Given the description of an element on the screen output the (x, y) to click on. 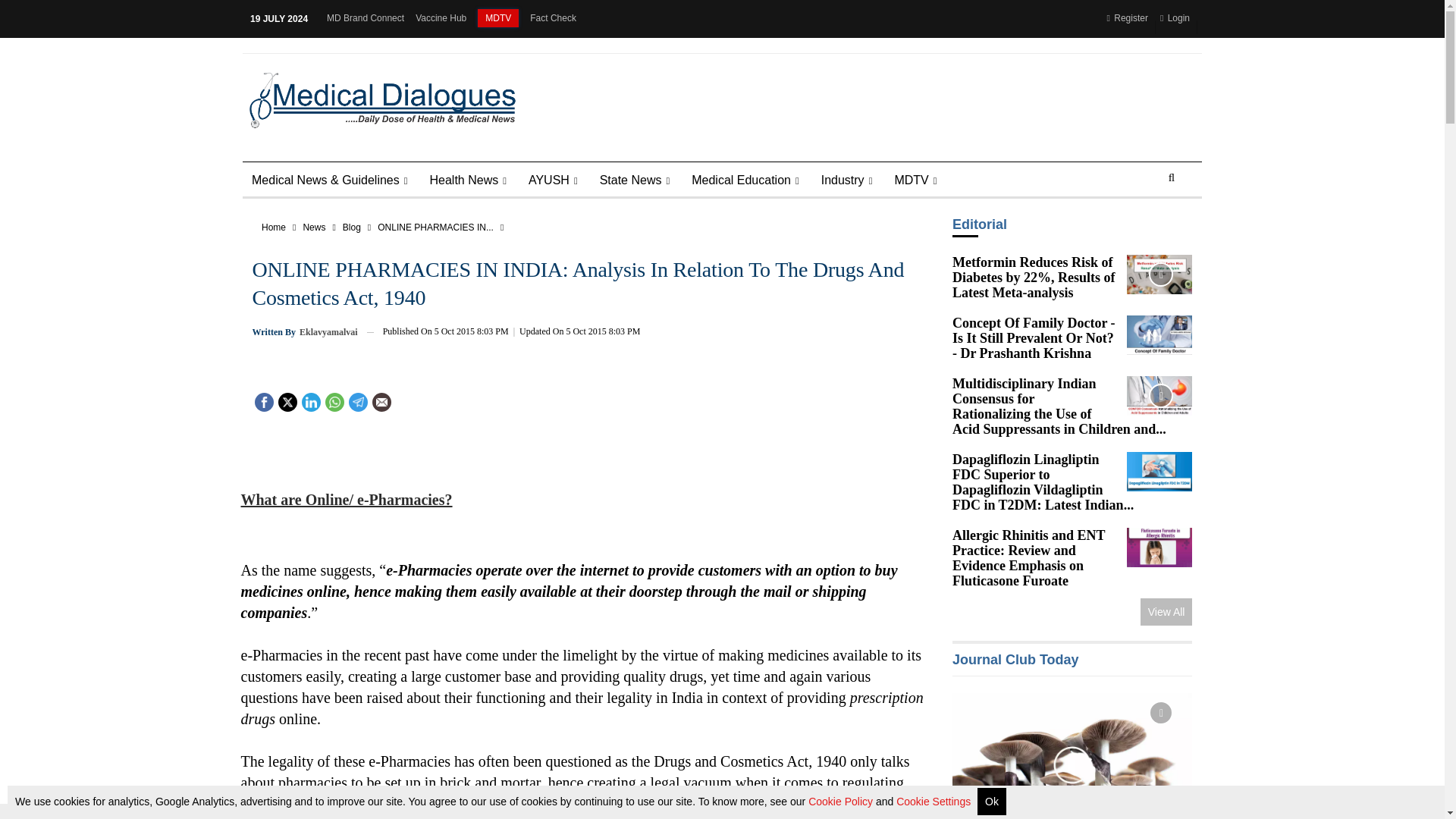
linkedin (309, 401)
Fact Check (552, 18)
telegram (357, 401)
Facebook (263, 400)
Vaccine Hub (439, 18)
facebook (263, 401)
whatsapp (334, 401)
MD Brand Connect (365, 18)
Medical Dialogues (378, 98)
Share by Email (381, 401)
LinkedIn (310, 400)
MDTV (497, 18)
Twitter (287, 400)
twitter (288, 401)
